Given the description of an element on the screen output the (x, y) to click on. 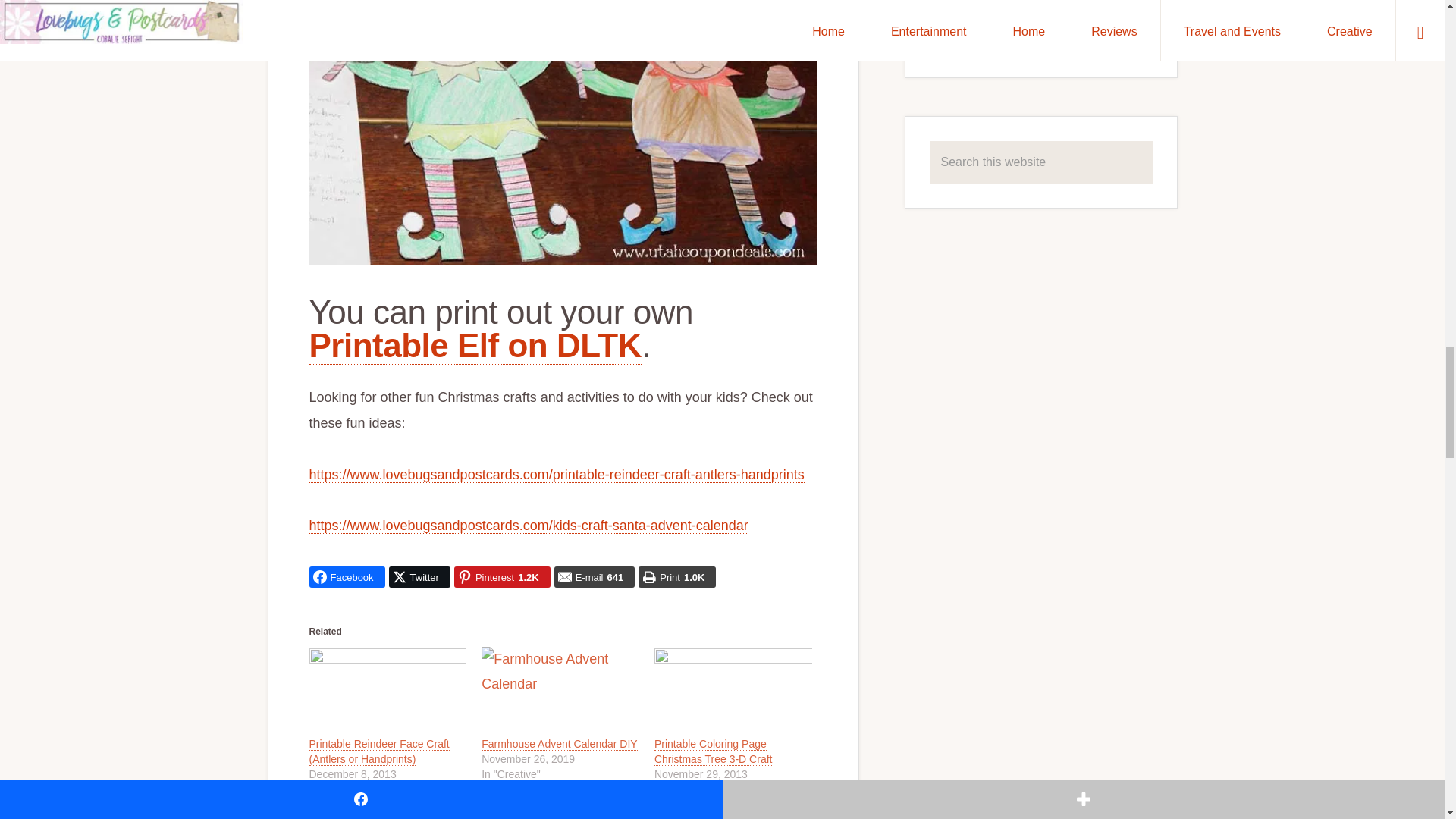
Twitter (418, 577)
Share on Twitter (418, 577)
Print1.0K (677, 577)
E-mail641 (594, 577)
Printable Elf on DLTK (475, 345)
Pinterest1.2K (502, 577)
Share on Facebook (346, 577)
Printable Coloring Page Christmas Tree 3-D Craft (713, 751)
Farmhouse Advent Calendar DIY (559, 744)
Facebook (346, 577)
